Given the description of an element on the screen output the (x, y) to click on. 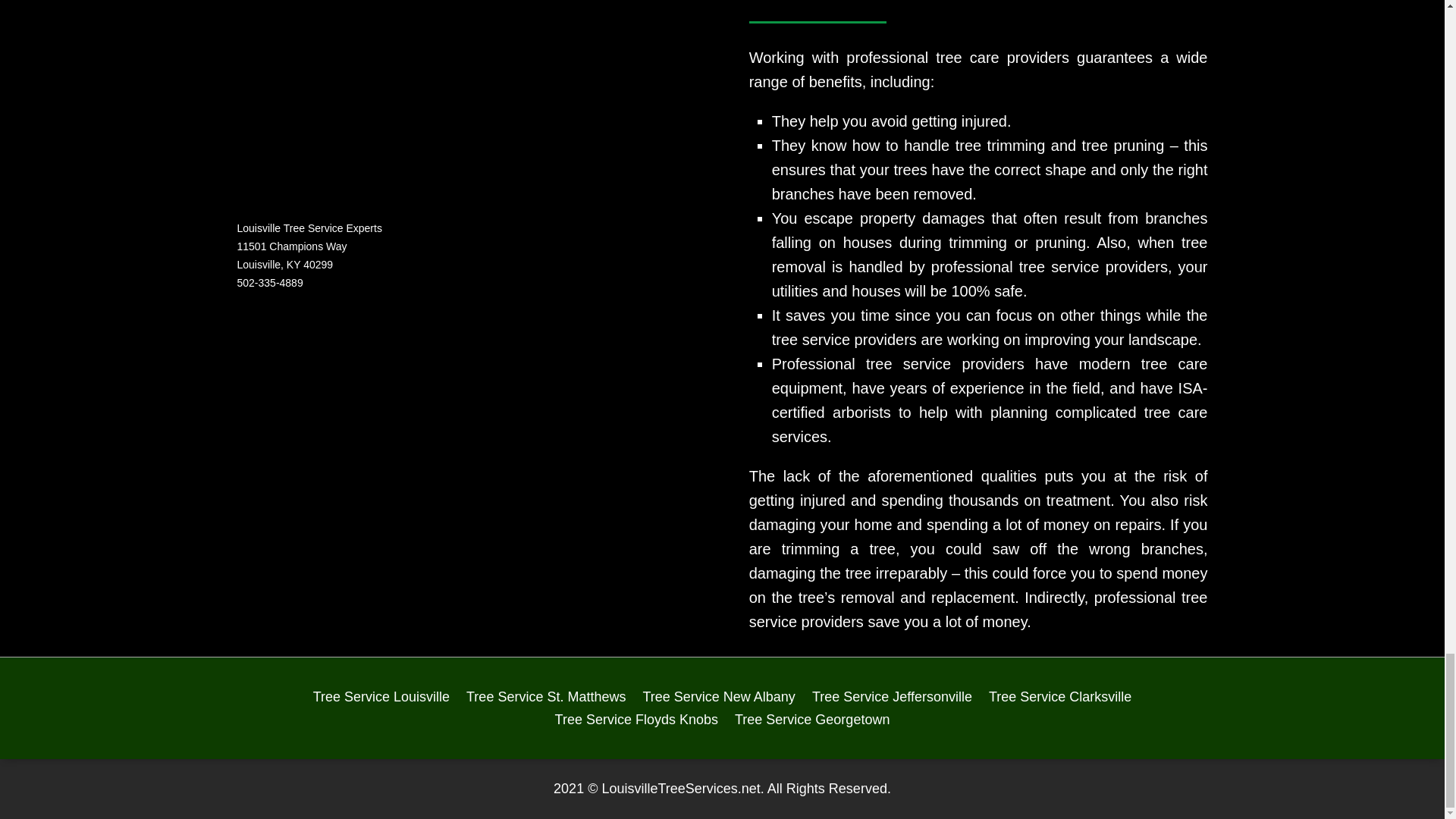
Tree Service New Albany (718, 699)
Tree Service Jeffersonville (892, 699)
Tree Service Clarksville (1059, 699)
Tree Service Georgetown (812, 722)
Tree Service Floyds Knobs (635, 722)
Tree Service St. Matthews (545, 699)
Tree Service Louisville (381, 699)
YouTube video player (387, 435)
